Given the description of an element on the screen output the (x, y) to click on. 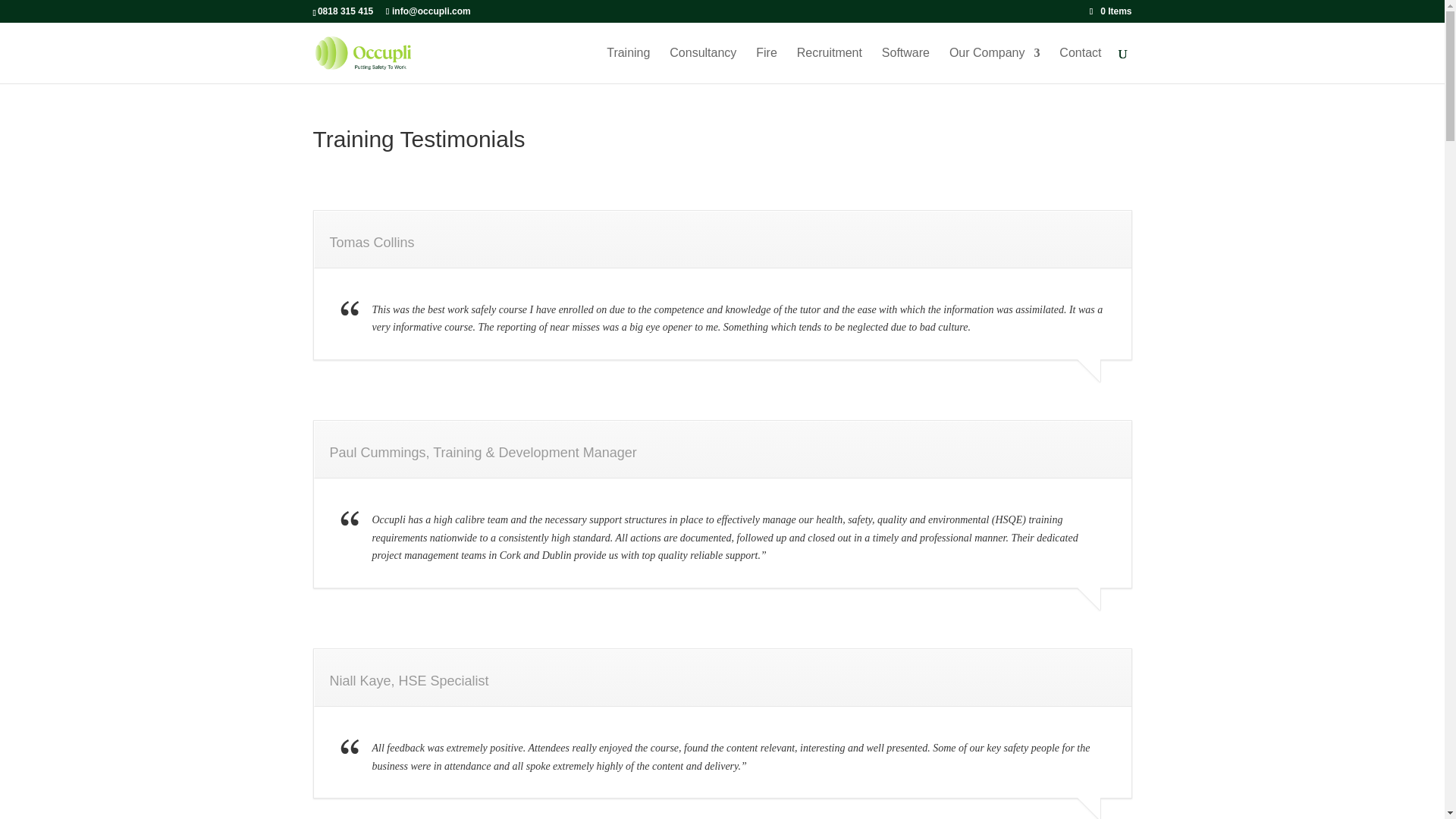
Recruitment (828, 65)
Consultancy (702, 65)
Our Company (995, 65)
0 Items (1110, 10)
0818 315 415 (344, 10)
Contact (1079, 65)
Software (906, 65)
Training (628, 65)
